Given the description of an element on the screen output the (x, y) to click on. 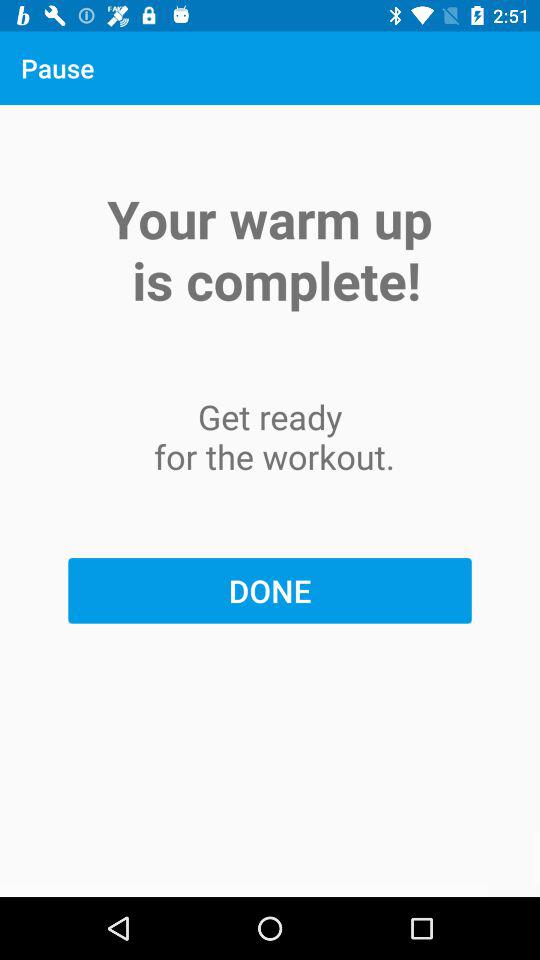
launch icon below get ready for item (269, 590)
